Given the description of an element on the screen output the (x, y) to click on. 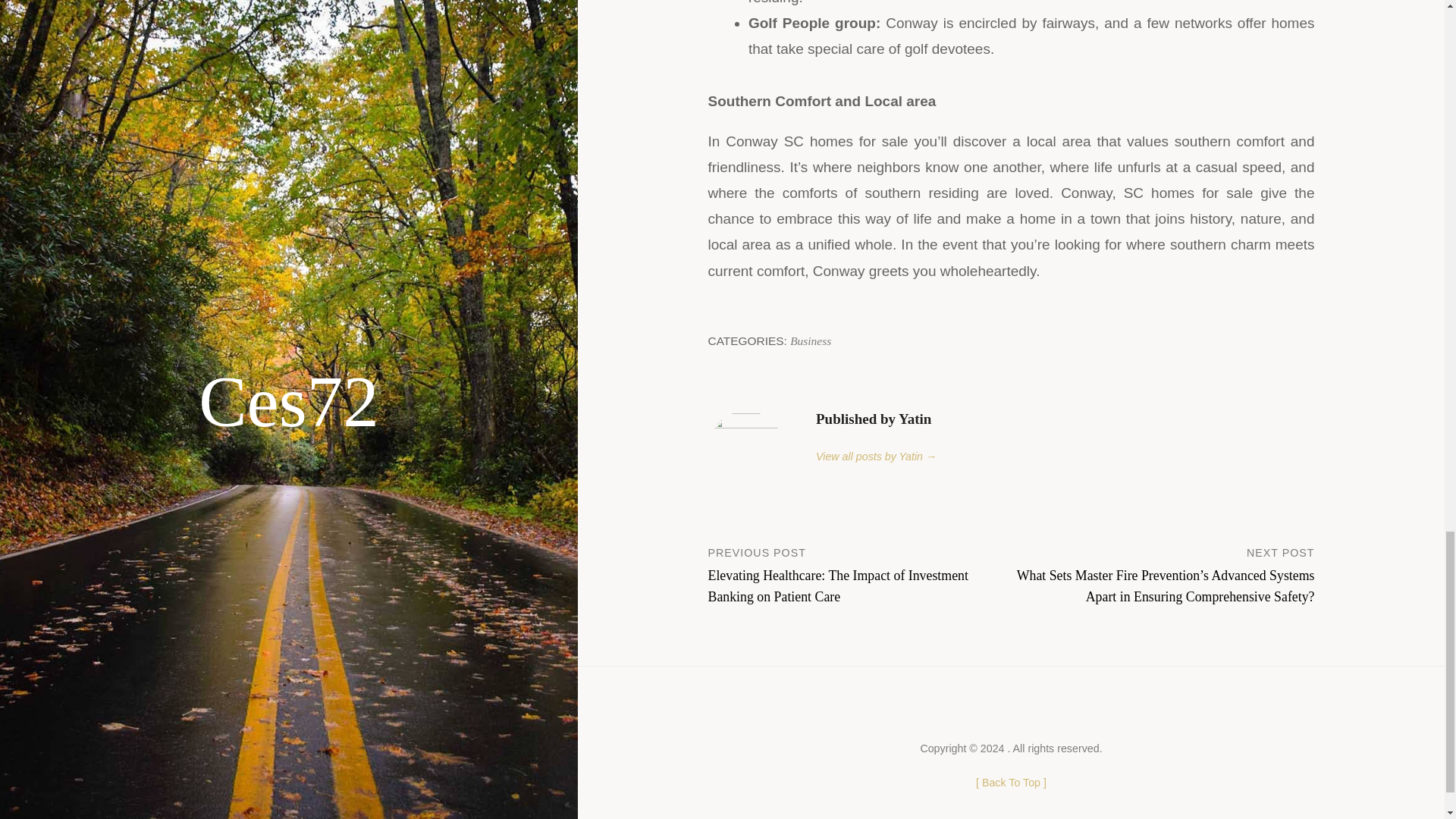
Back To Top (1010, 782)
Business (810, 340)
